Given the description of an element on the screen output the (x, y) to click on. 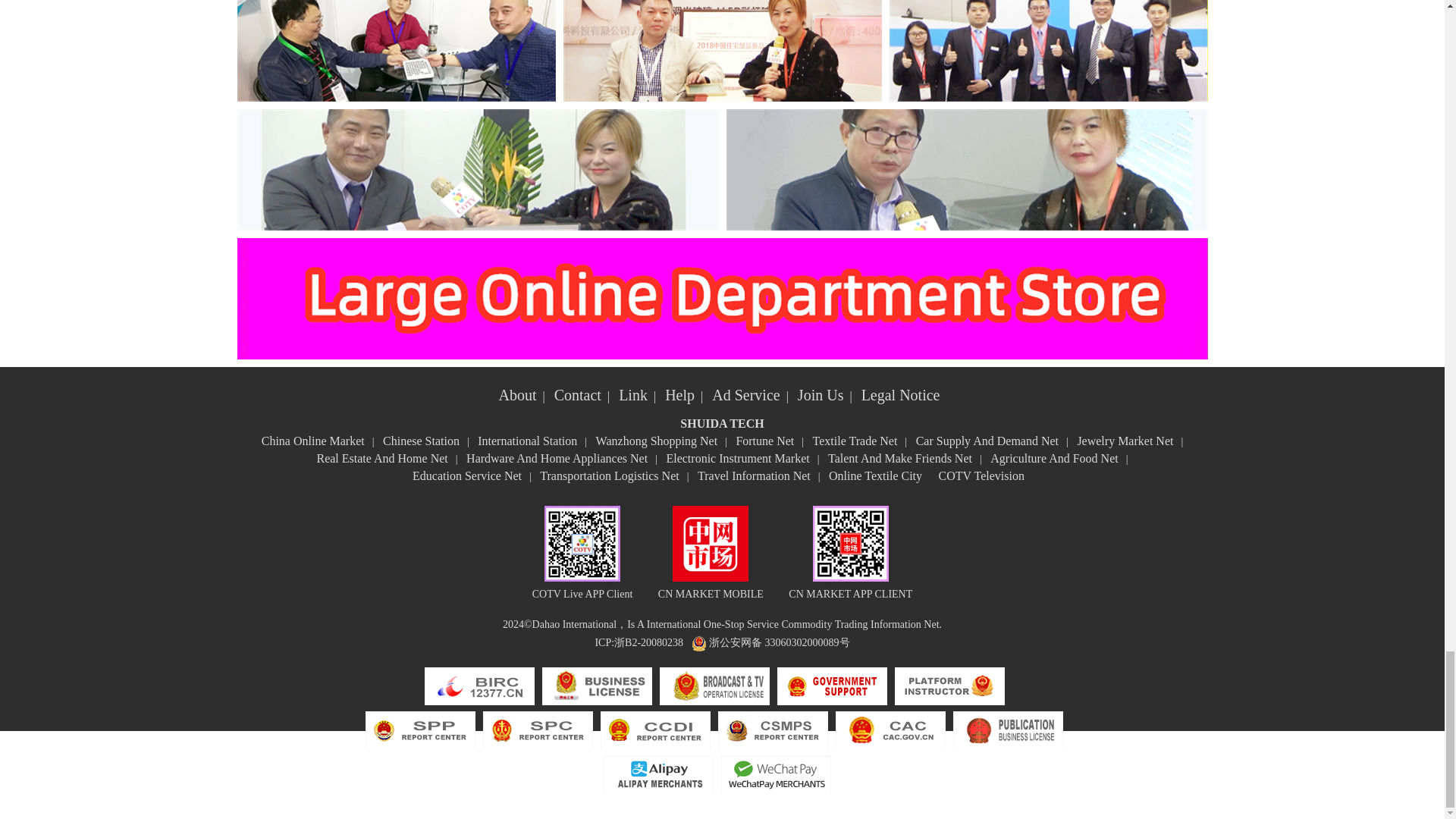
Supreme People's Court Reporting Center (536, 731)
Central Commission for Discipline Inspection (654, 731)
Governmental Support (831, 686)
National Internet Information Office (889, 731)
Reporting Center of Supreme People's Procuratorate (420, 731)
Bad Information Reporting Center (479, 686)
Website Platform Instructor (949, 686)
Business License (596, 686)
Publication License (1007, 731)
